Given the description of an element on the screen output the (x, y) to click on. 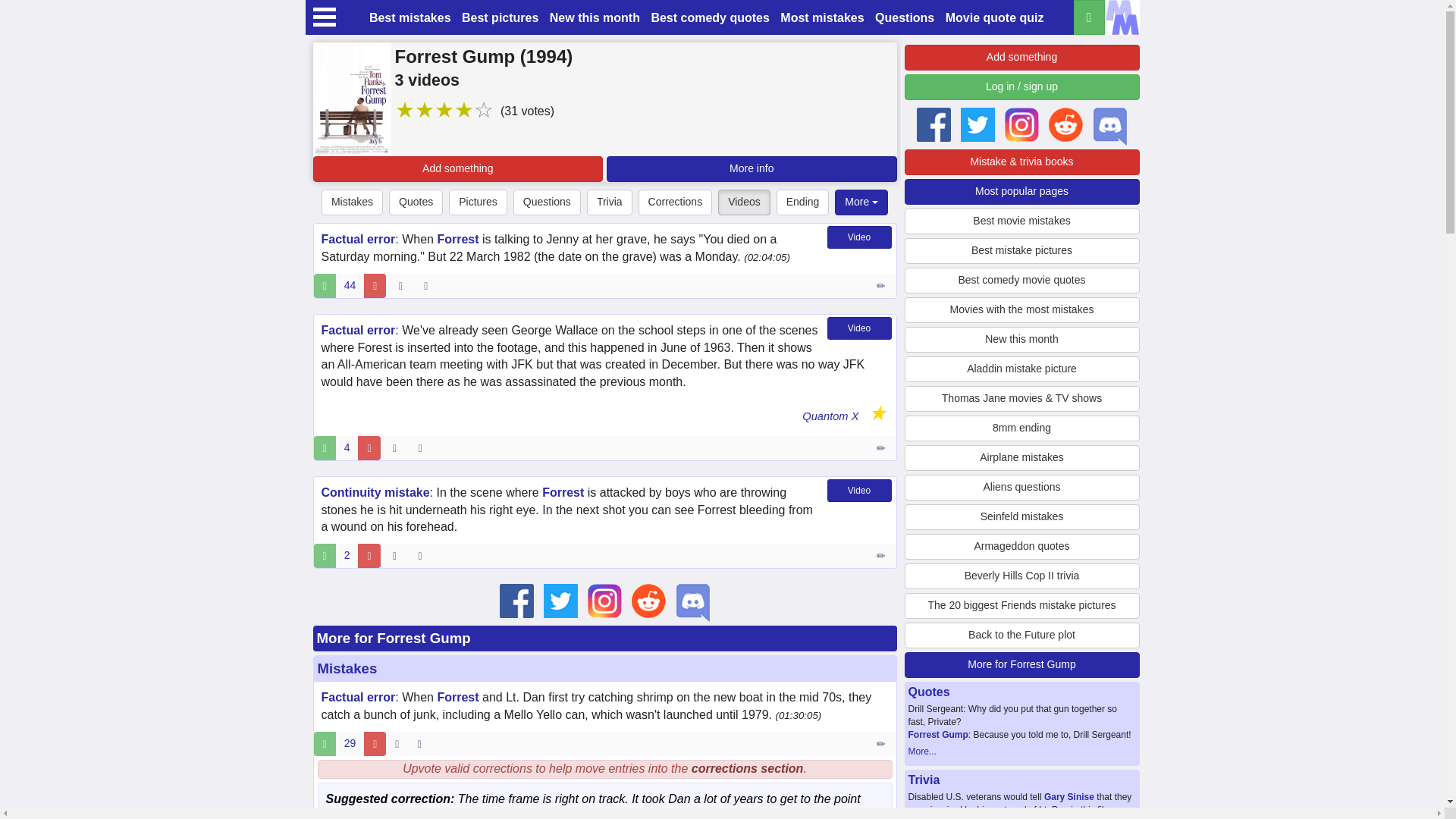
Share this entry (429, 285)
Share this entry (423, 447)
Entry 297682 (881, 447)
Entry 3098 (881, 285)
I like this (325, 555)
I like this (325, 743)
I dislike this (374, 285)
I dislike this (374, 743)
I like this (325, 447)
I dislike this (369, 447)
I dislike this (369, 555)
I like this (325, 285)
Entry 104746 (881, 555)
Share this entry (423, 555)
